Given the description of an element on the screen output the (x, y) to click on. 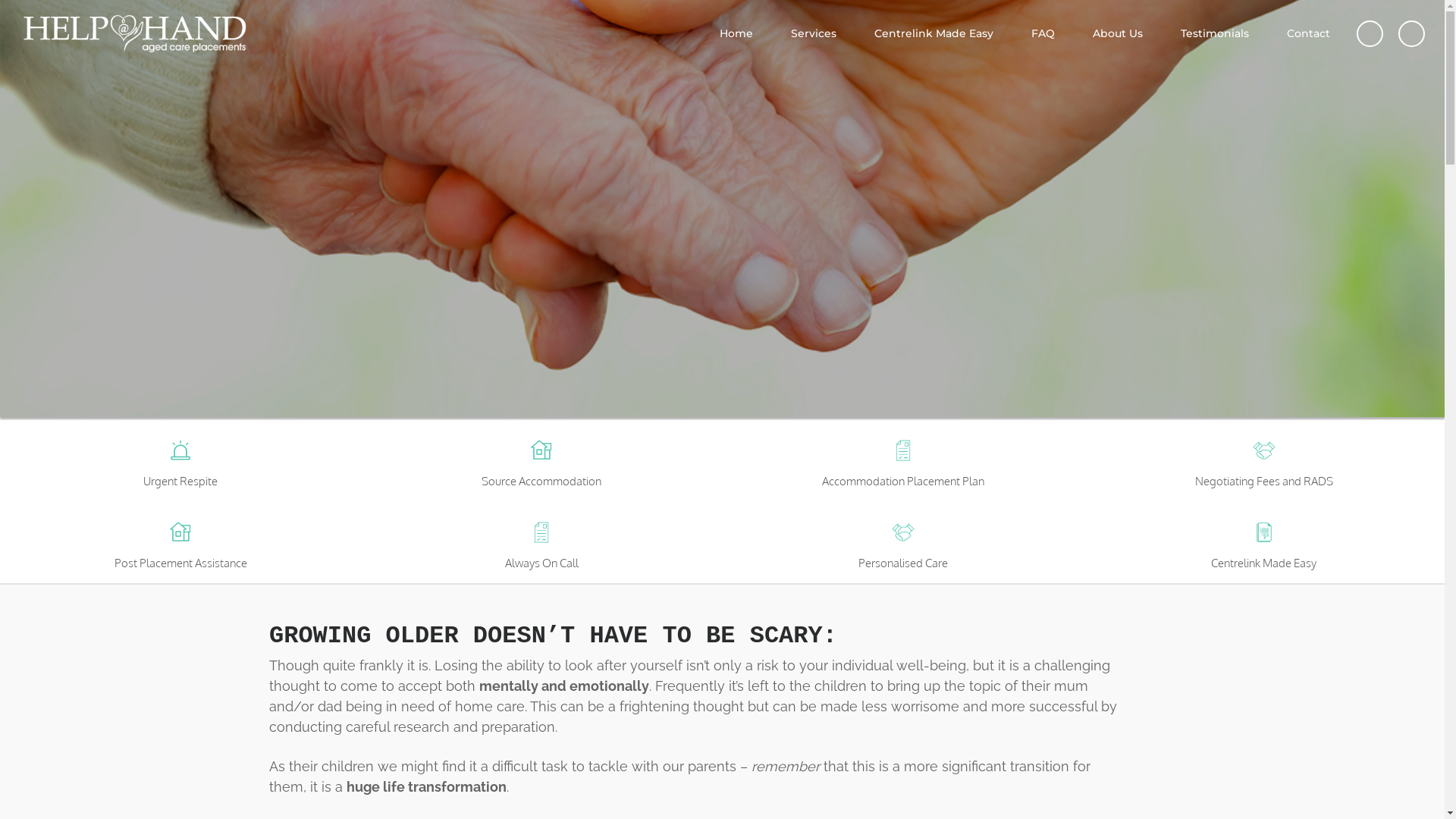
About Us Element type: text (1117, 33)
Centrelink Made Easy Element type: text (933, 33)
Contact Element type: text (1308, 33)
Services Element type: text (813, 33)
Testimonials Element type: text (1214, 33)
Home Element type: text (735, 33)
FAQ Element type: text (1042, 33)
